Given the description of an element on the screen output the (x, y) to click on. 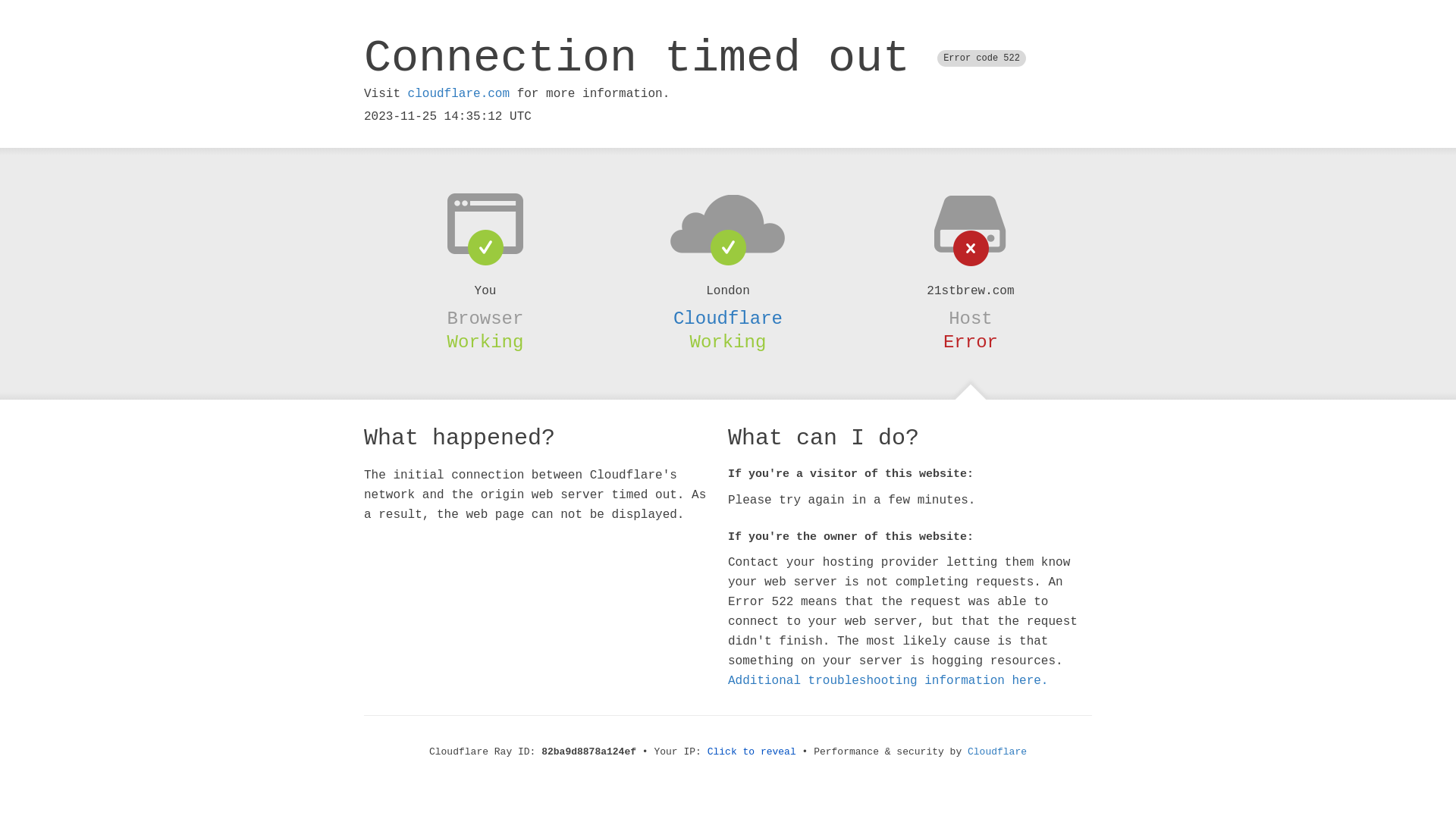
cloudflare.com Element type: text (458, 93)
Click to reveal Element type: text (751, 751)
Additional troubleshooting information here. Element type: text (888, 680)
Cloudflare Element type: text (727, 318)
Cloudflare Element type: text (996, 751)
